Given the description of an element on the screen output the (x, y) to click on. 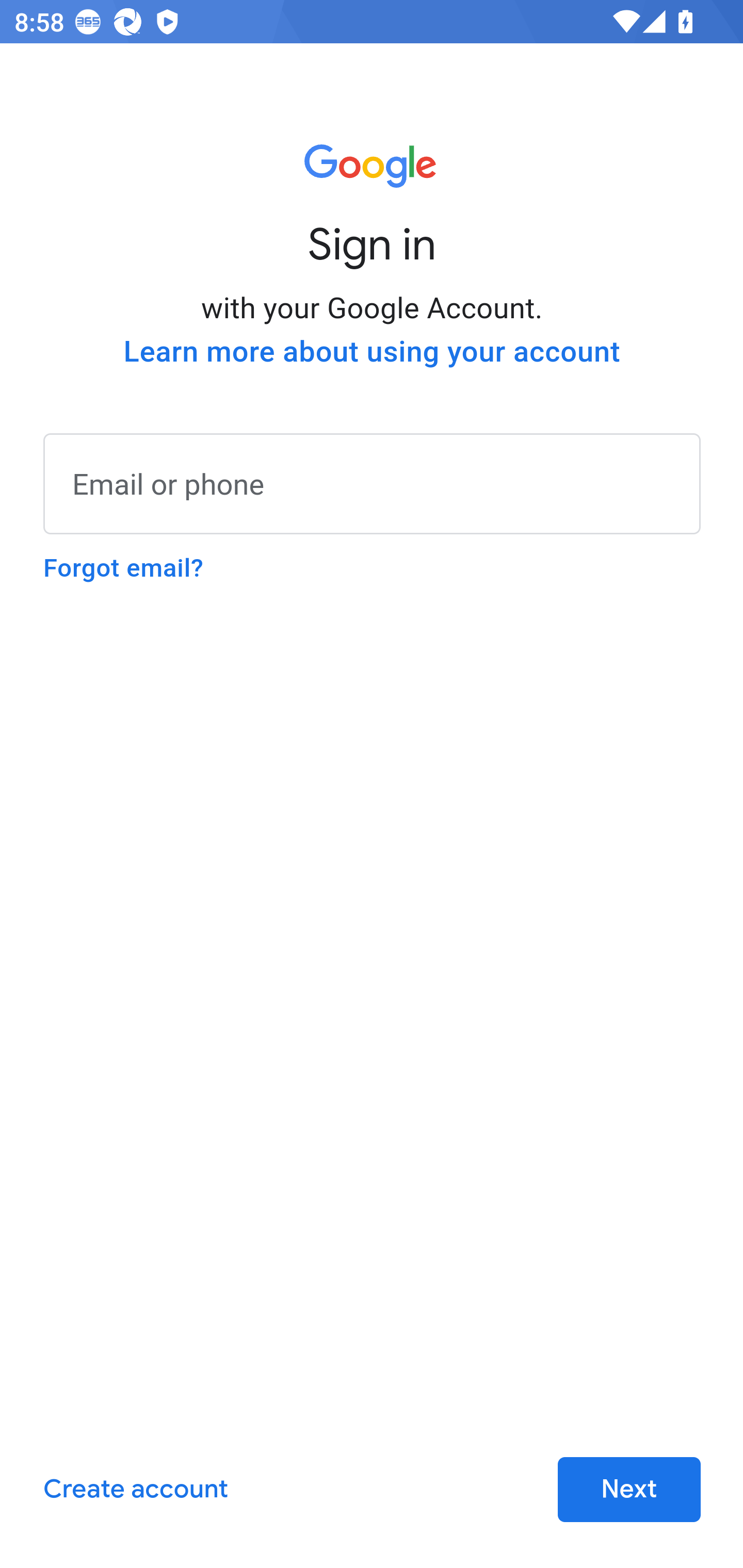
Learn more about using your account (371, 351)
Forgot email? (123, 568)
Create account (134, 1490)
Next (629, 1490)
